Given the description of an element on the screen output the (x, y) to click on. 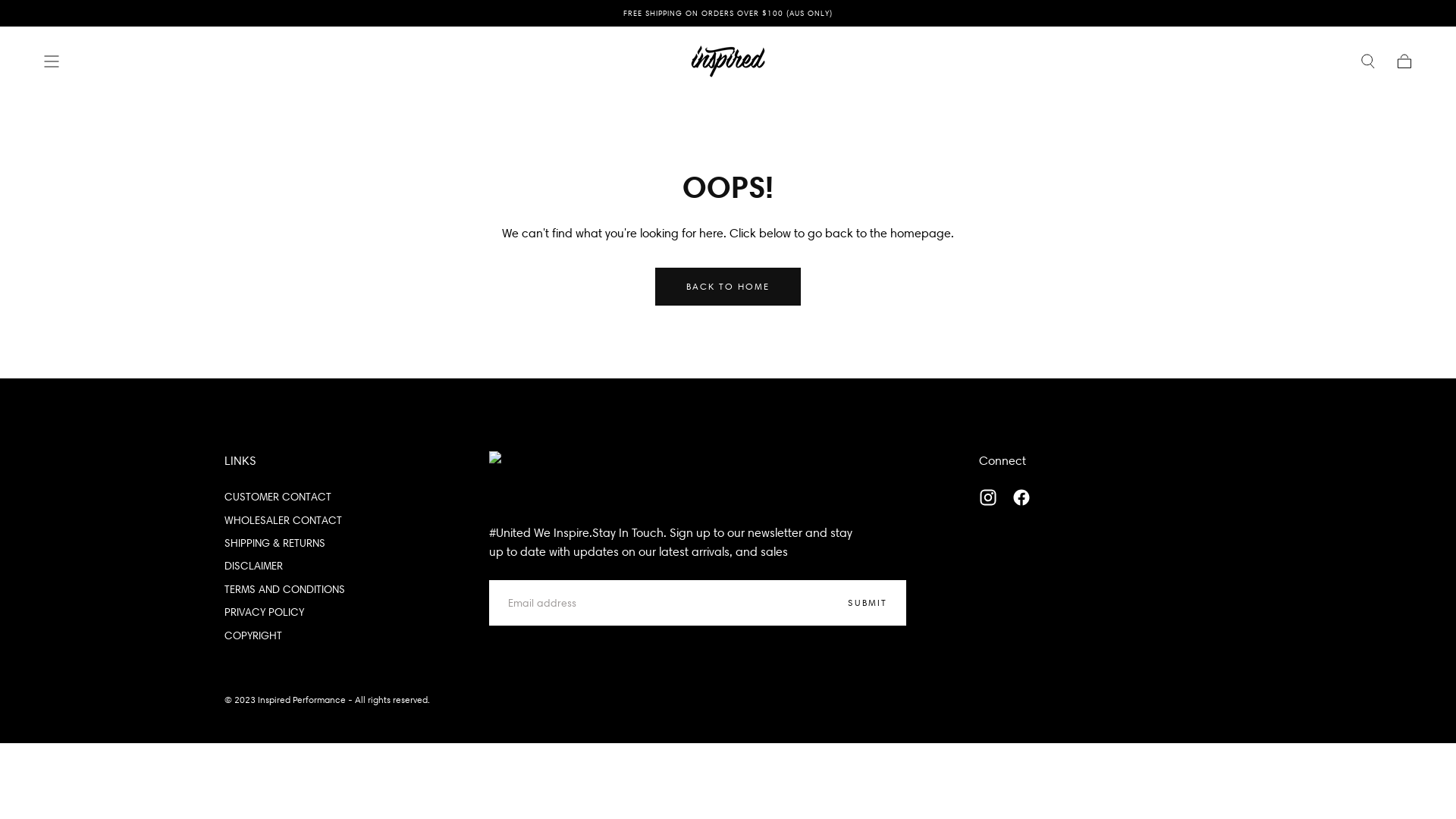
Cart Element type: text (1404, 61)
COPYRIGHT Element type: text (284, 635)
SHIPPING & RETURNS Element type: text (284, 542)
PRIVACY POLICY Element type: text (284, 611)
DISCLAIMER Element type: text (284, 565)
BACK TO HOME Element type: text (727, 286)
Inspired Performance Element type: text (549, 478)
TERMS AND CONDITIONS Element type: text (284, 588)
CUSTOMER CONTACT Element type: text (284, 496)
SUBMIT Element type: text (867, 602)
WHOLESALER CONTACT Element type: text (284, 519)
